Given the description of an element on the screen output the (x, y) to click on. 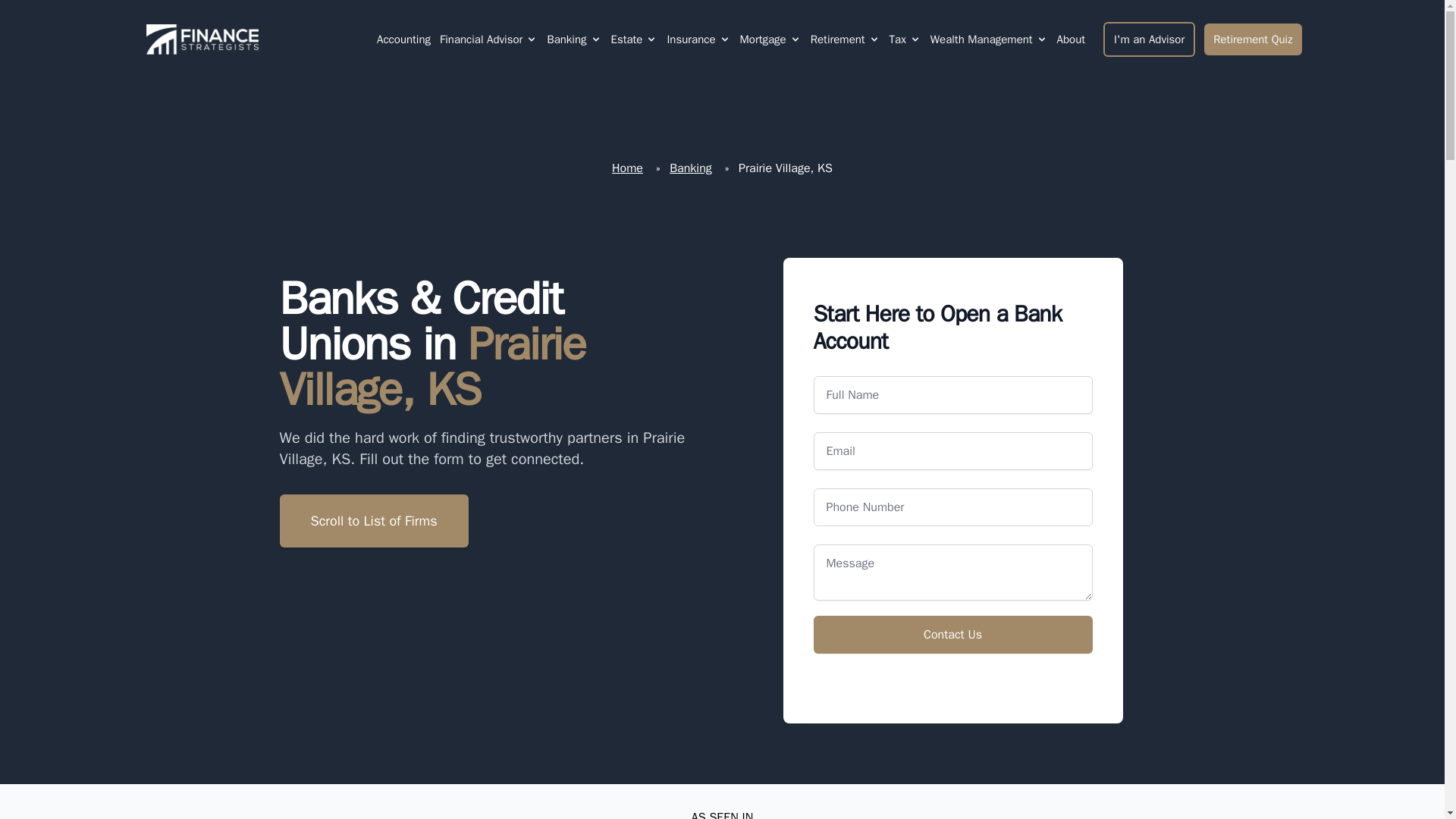
Financial Advisor (480, 39)
Banking (566, 39)
Accounting (403, 39)
Banking (573, 39)
Financial Advisor (488, 39)
Finance Strategists (199, 39)
Accounting (403, 39)
